Given the description of an element on the screen output the (x, y) to click on. 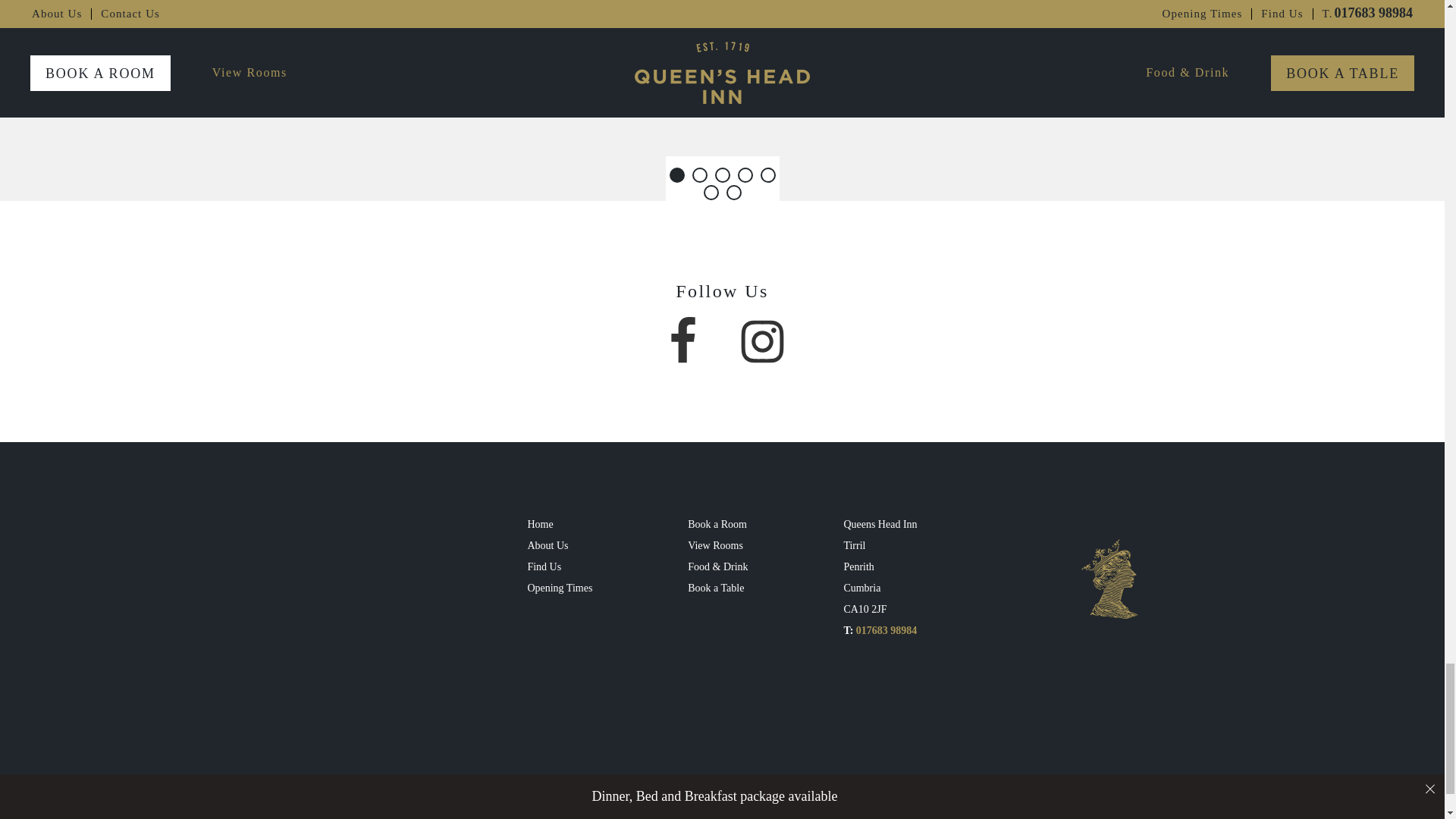
About Us (559, 545)
Opening Times (559, 588)
Home (559, 524)
Find Us (559, 567)
